Given the description of an element on the screen output the (x, y) to click on. 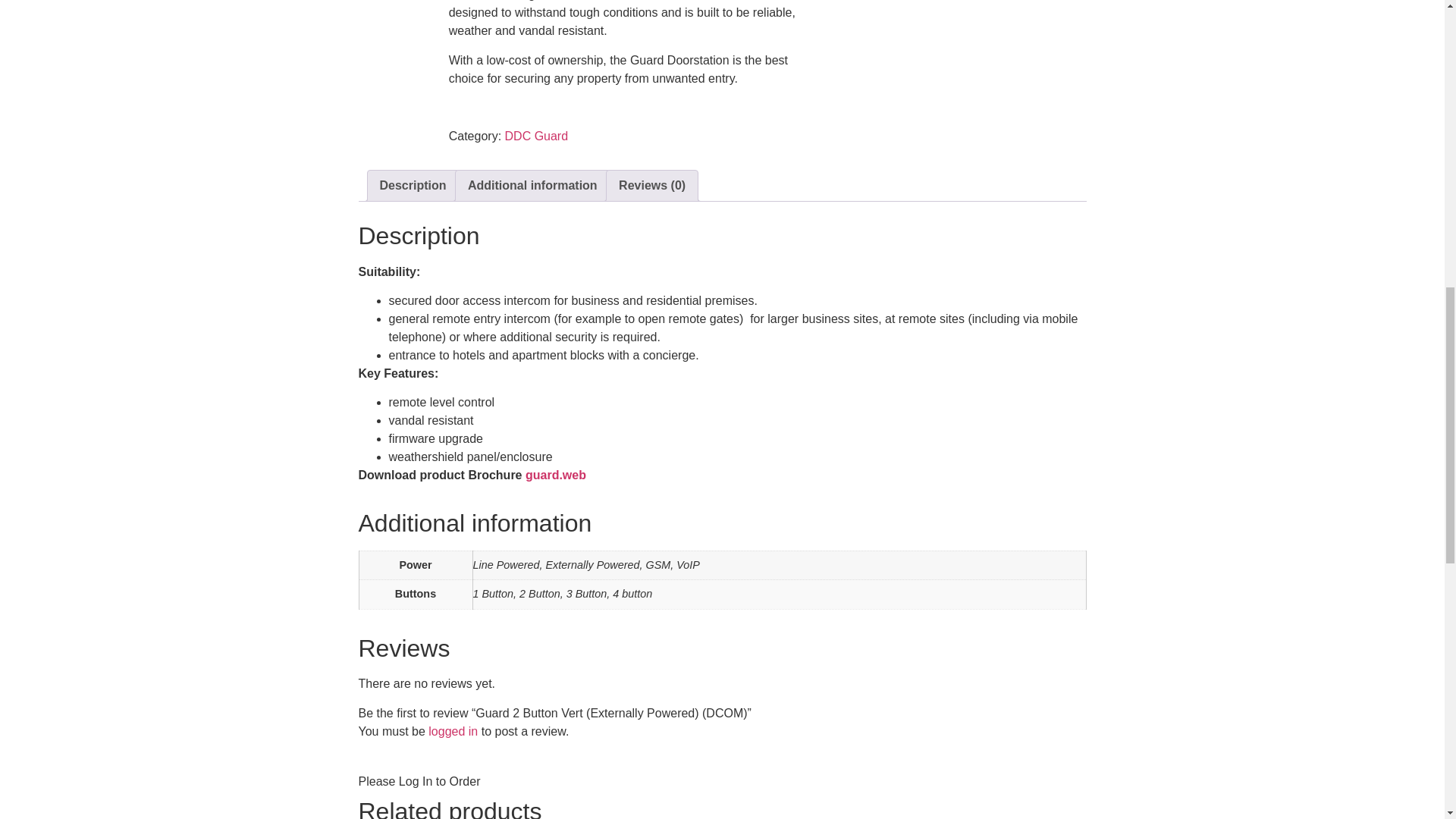
guard.web (555, 474)
logged in (452, 730)
Page 1 (622, 43)
DDC Guard (537, 135)
Additional information (531, 185)
Description (411, 185)
